Given the description of an element on the screen output the (x, y) to click on. 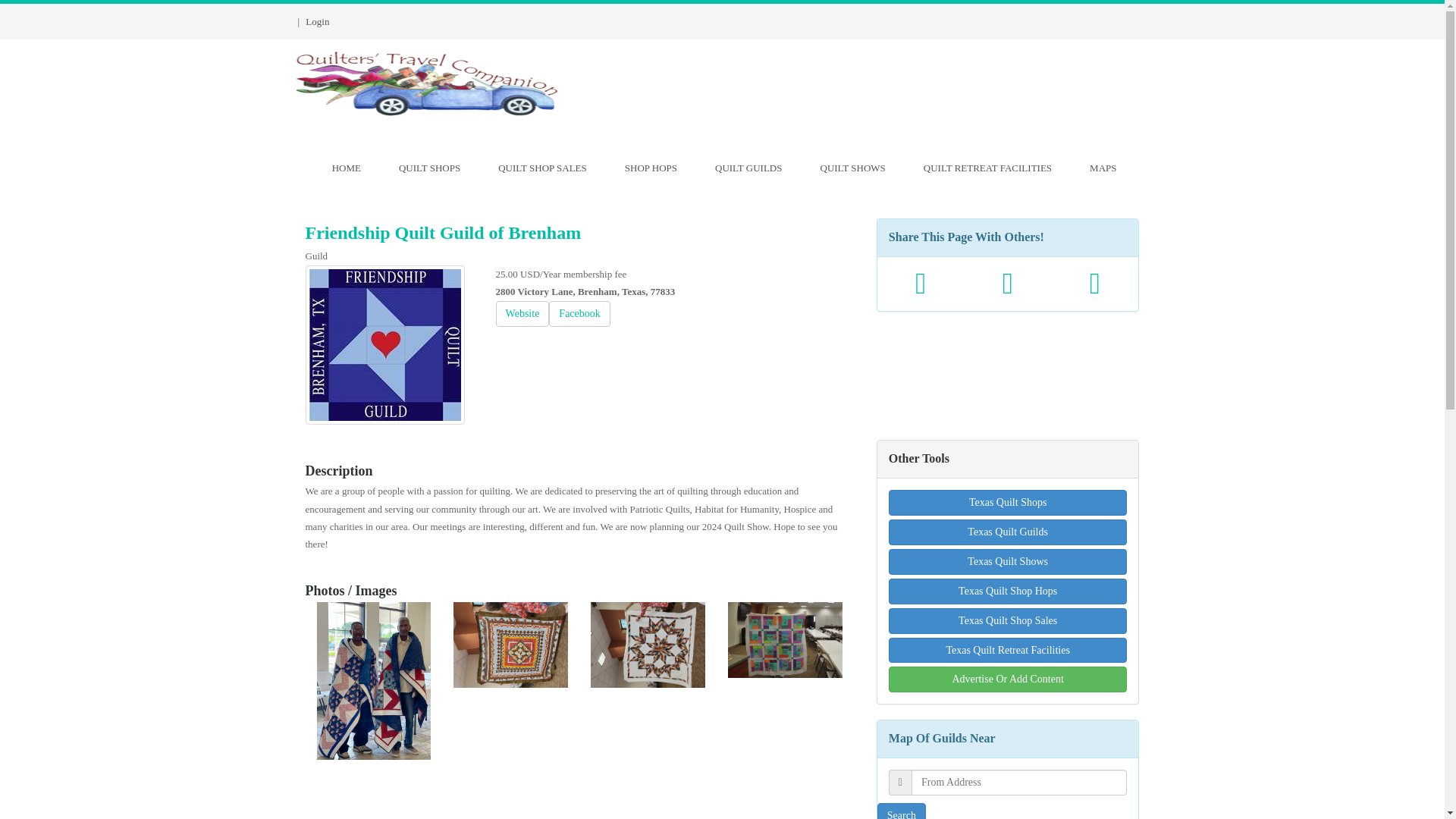
Texas Quilt Shop Sales (1007, 620)
HOME (346, 169)
MAPS (1102, 169)
Login (317, 21)
QUILT GUILDS (747, 169)
Texas Quilt Shop Hops (1007, 591)
QUILT SHOPS (429, 169)
Facebook (579, 313)
QUILT SHOP SALES (542, 169)
QUILT RETREAT FACILITIES (1007, 561)
Website (987, 169)
Friendship Quilt Guild of Brenham (523, 313)
Friendship Quilt Guild of Brenham Facebook (384, 345)
